Given the description of an element on the screen output the (x, y) to click on. 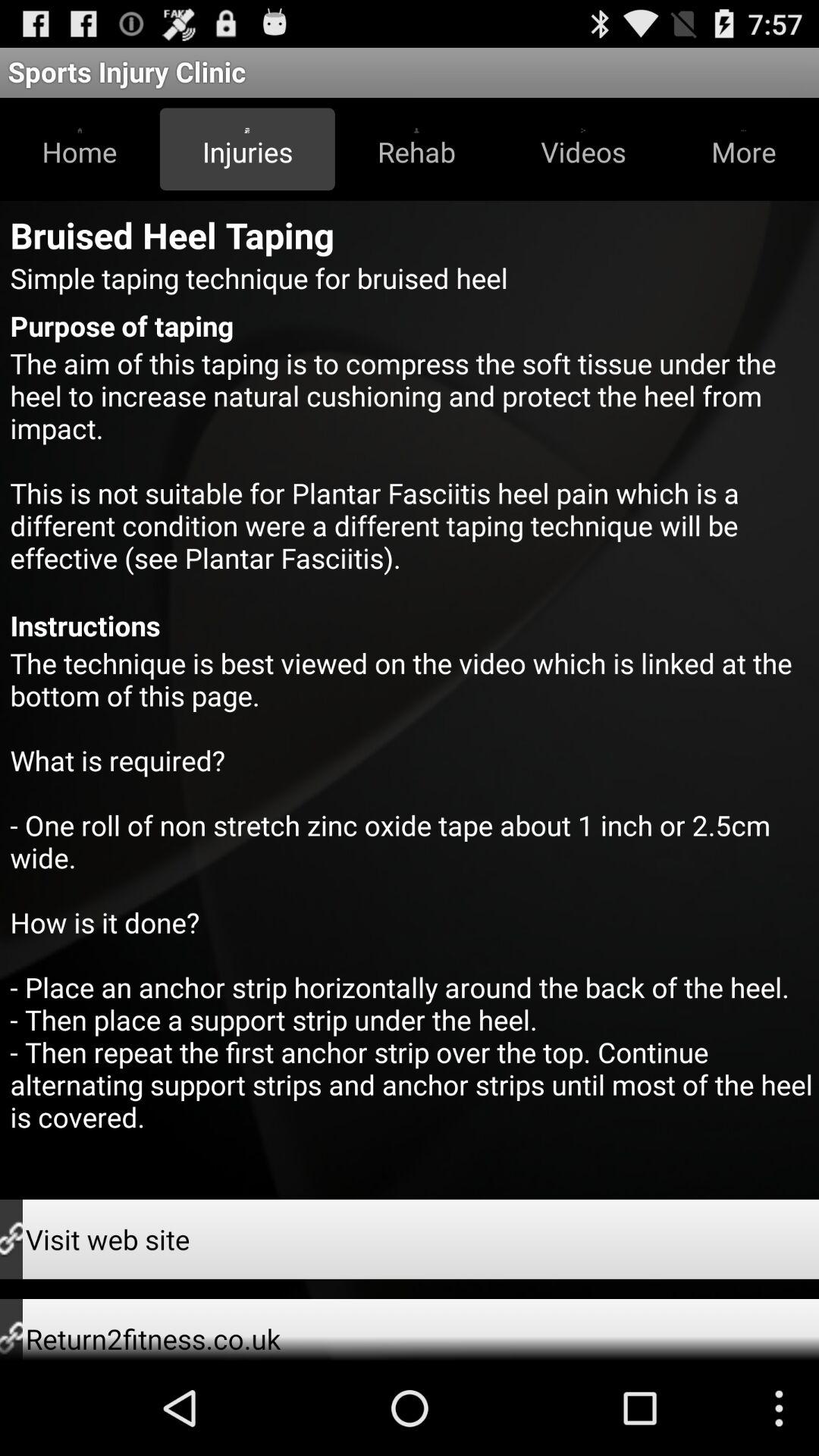
select home (79, 149)
